Given the description of an element on the screen output the (x, y) to click on. 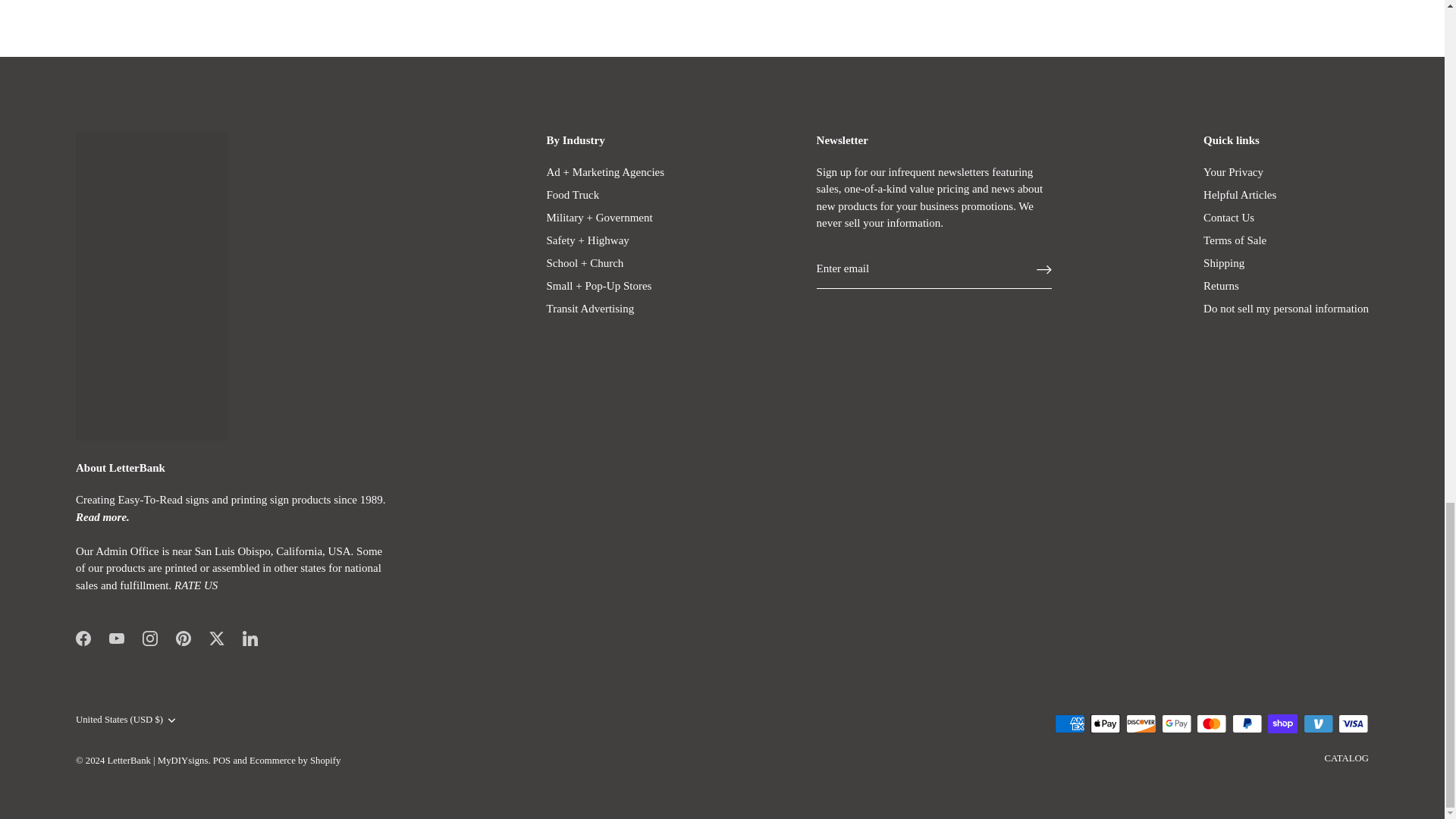
Visa (1353, 723)
Right arrow long (1043, 269)
Discover (1140, 723)
American Express (1069, 723)
Mastercard (1210, 723)
Instagram (149, 638)
Google Pay (1176, 723)
Apple Pay (1105, 723)
Pinterest (183, 638)
Shop Pay (1282, 723)
